Given the description of an element on the screen output the (x, y) to click on. 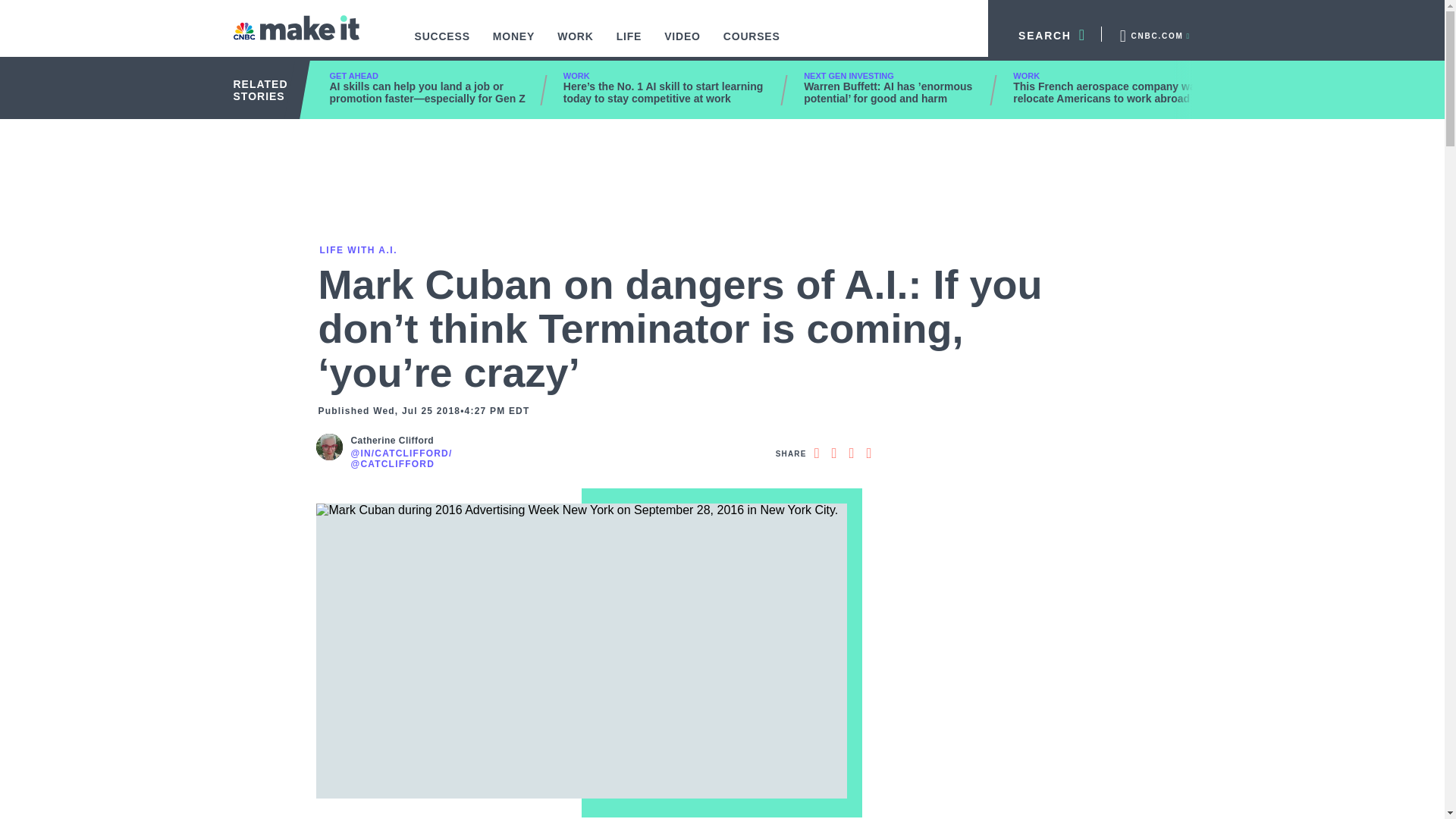
WORK (575, 44)
SUCCESS (442, 44)
VIDEO (681, 44)
LIFE (629, 44)
SEARCH (1045, 33)
CNBC.COM (1153, 33)
COURSES (751, 44)
MONEY (513, 44)
